Given the description of an element on the screen output the (x, y) to click on. 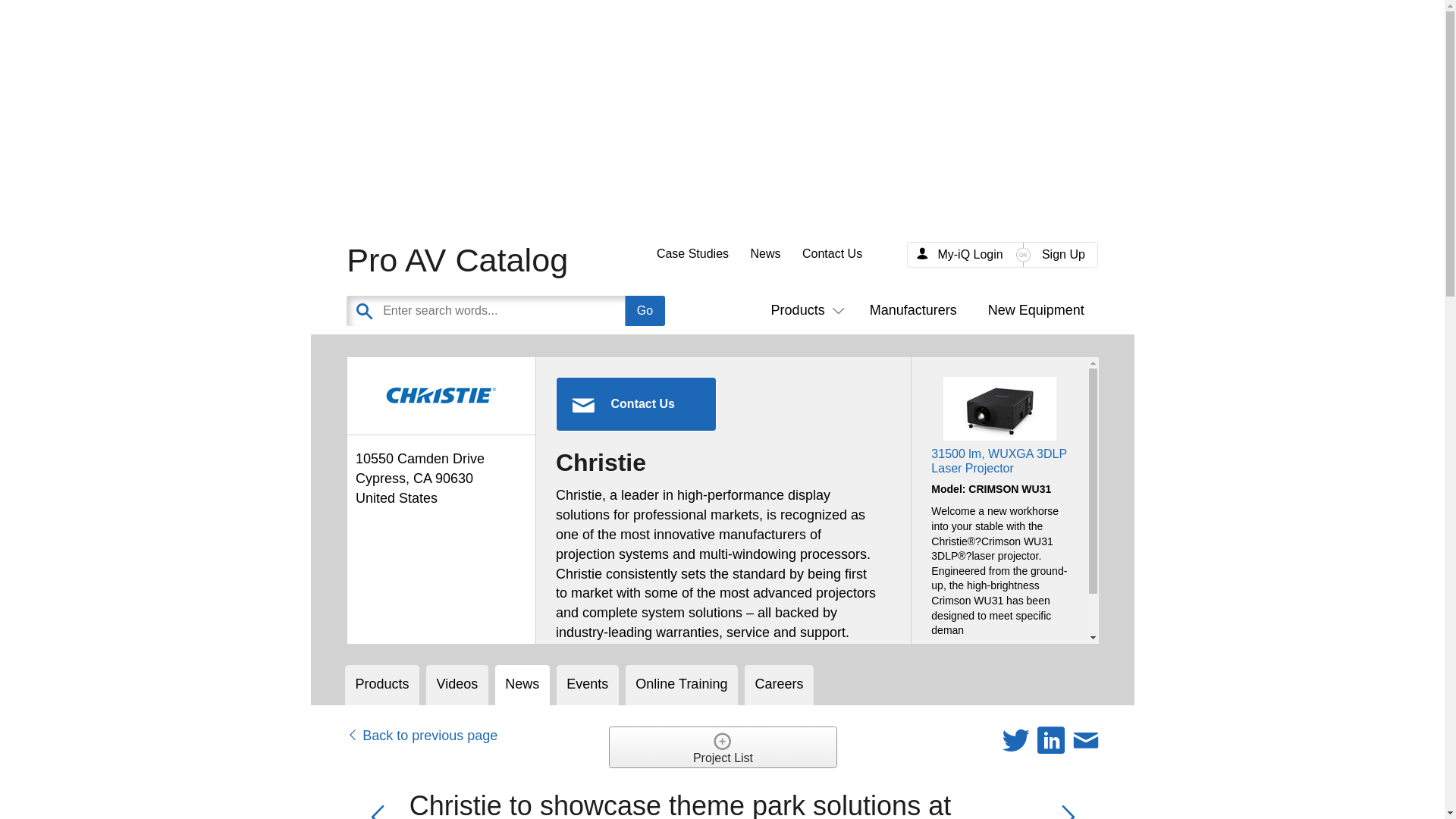
Enter search words... (541, 310)
Go (644, 310)
Go (644, 310)
